Given the description of an element on the screen output the (x, y) to click on. 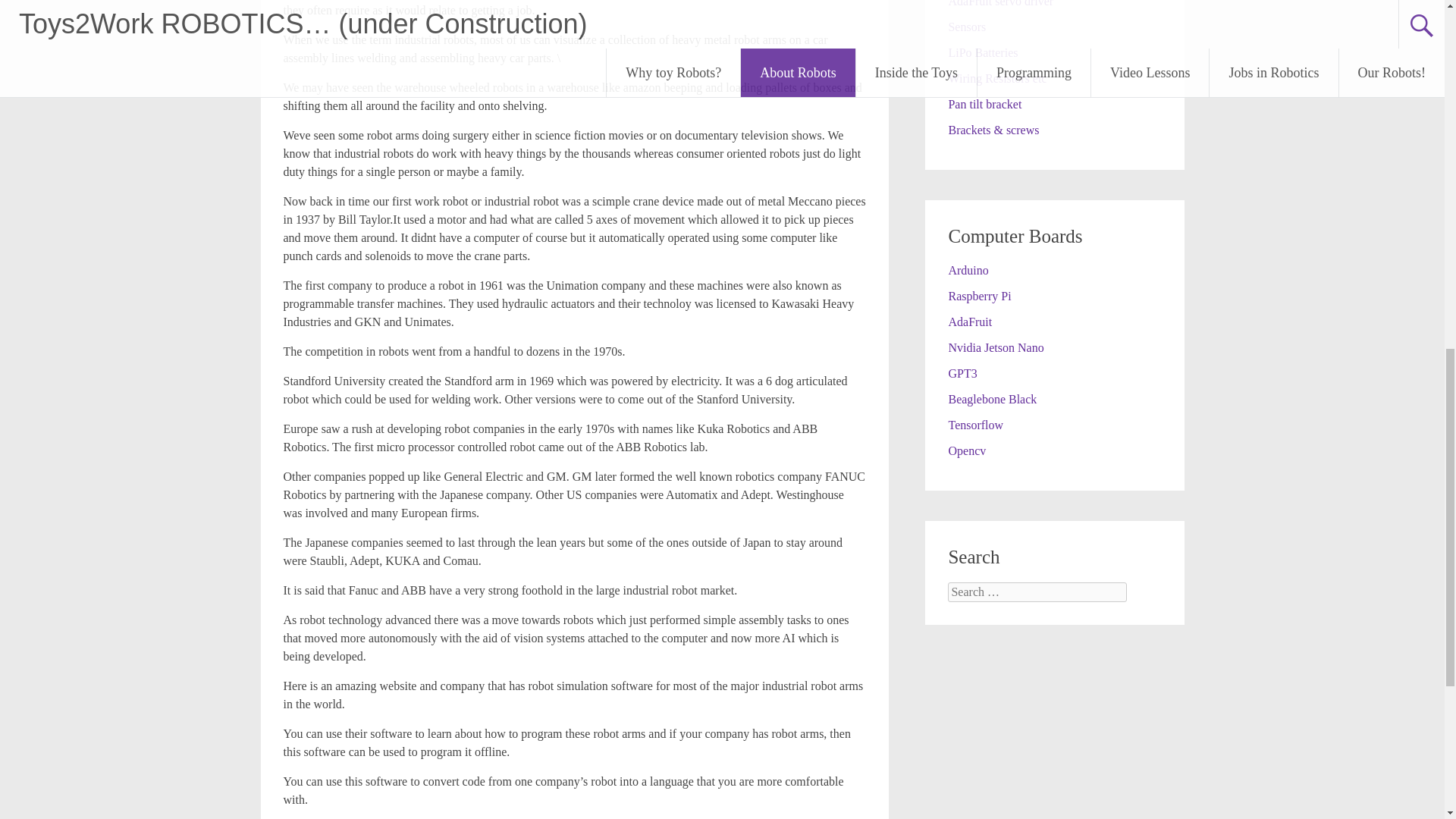
GPT 3 (961, 373)
Raspberry Pi (978, 295)
Ada Fruit (969, 321)
Opencv (966, 450)
Nvidia Xavier Jetson (995, 347)
Arduino (967, 269)
Beagle bone Black (991, 399)
Tensor Flo (975, 424)
